Given the description of an element on the screen output the (x, y) to click on. 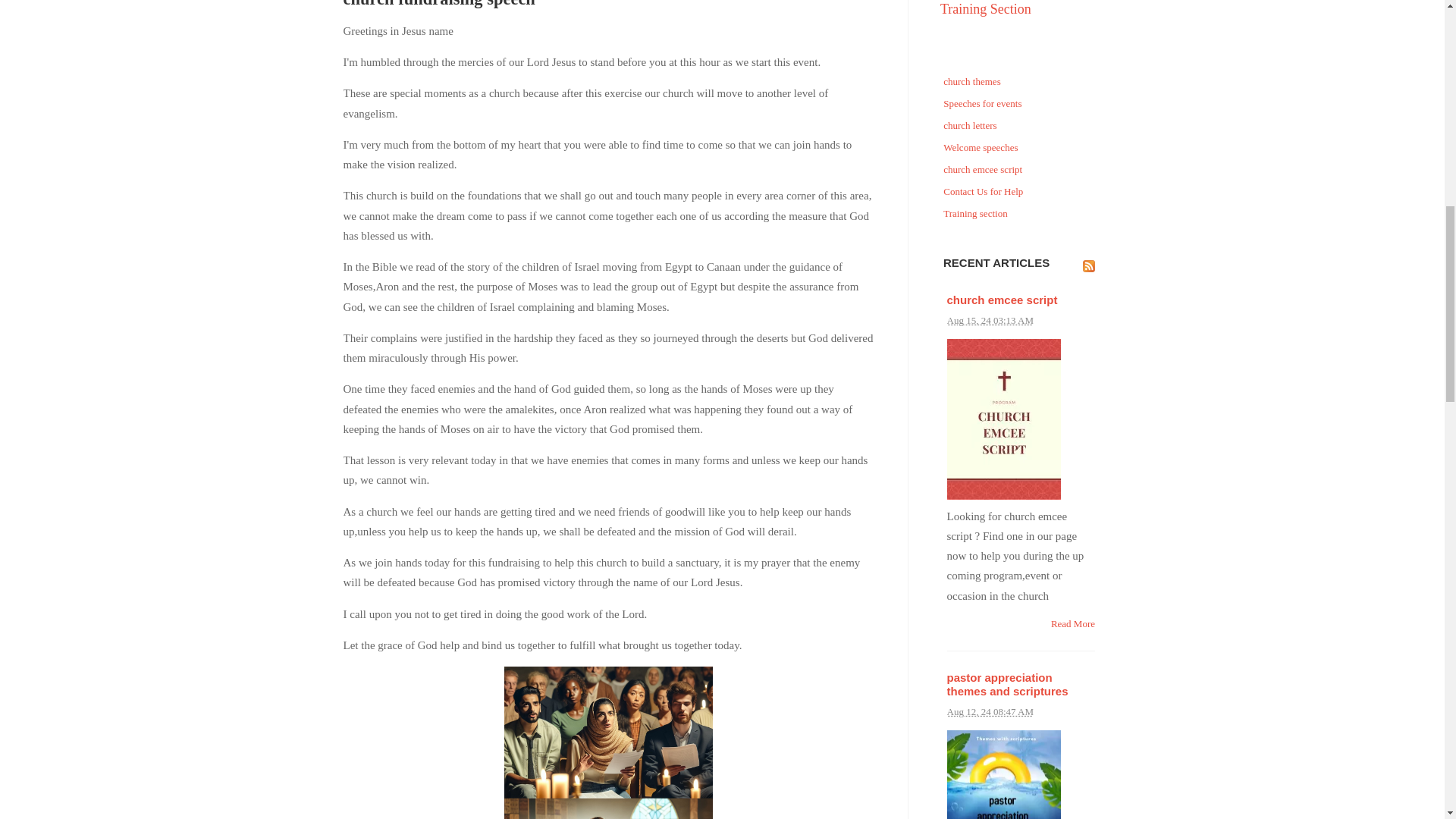
church emcee script (1021, 169)
speeches on raising money for church building (608, 742)
Read More (1072, 623)
Welcome speeches (1021, 148)
2024-08-12T08:47:42-0400 (989, 711)
pastor appreciation themes and scriptures (1006, 683)
Training section (1021, 213)
Contact Us for Help (1021, 191)
RECENT ARTICLES (996, 262)
church themes (1021, 82)
